Given the description of an element on the screen output the (x, y) to click on. 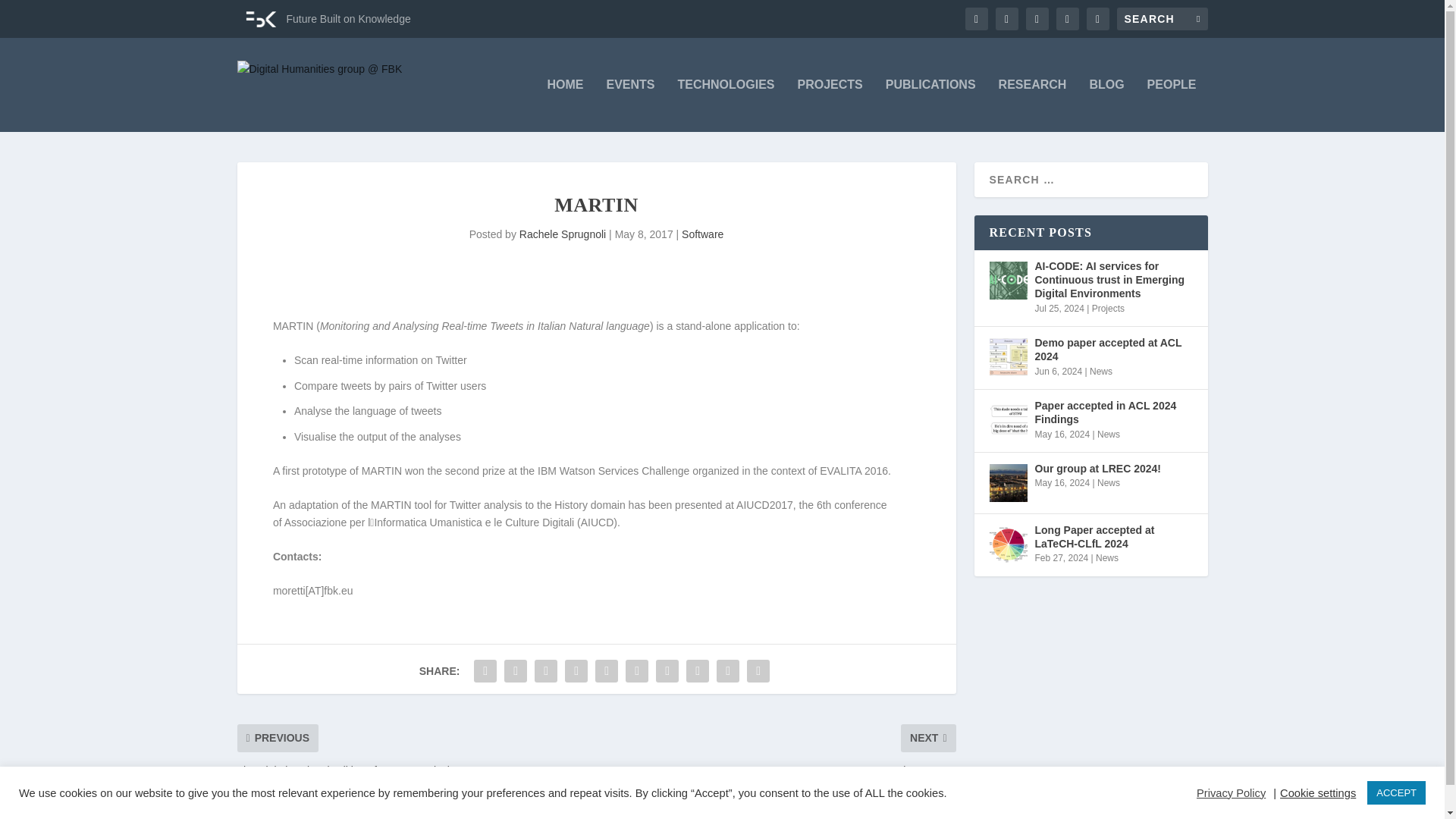
Share "MARTIN" via Tumblr (575, 671)
Paper accepted in ACL 2024 Findings (1007, 419)
Posts by Rachele Sprugnoli (562, 234)
Demo paper accepted at ACL 2024 (1007, 356)
Share "MARTIN" via LinkedIn (636, 671)
EVENTS (629, 104)
Share "MARTIN" via Email (727, 671)
TECHNOLOGIES (726, 104)
PEOPLE (1171, 104)
Share "MARTIN" via Facebook (485, 671)
